Given the description of an element on the screen output the (x, y) to click on. 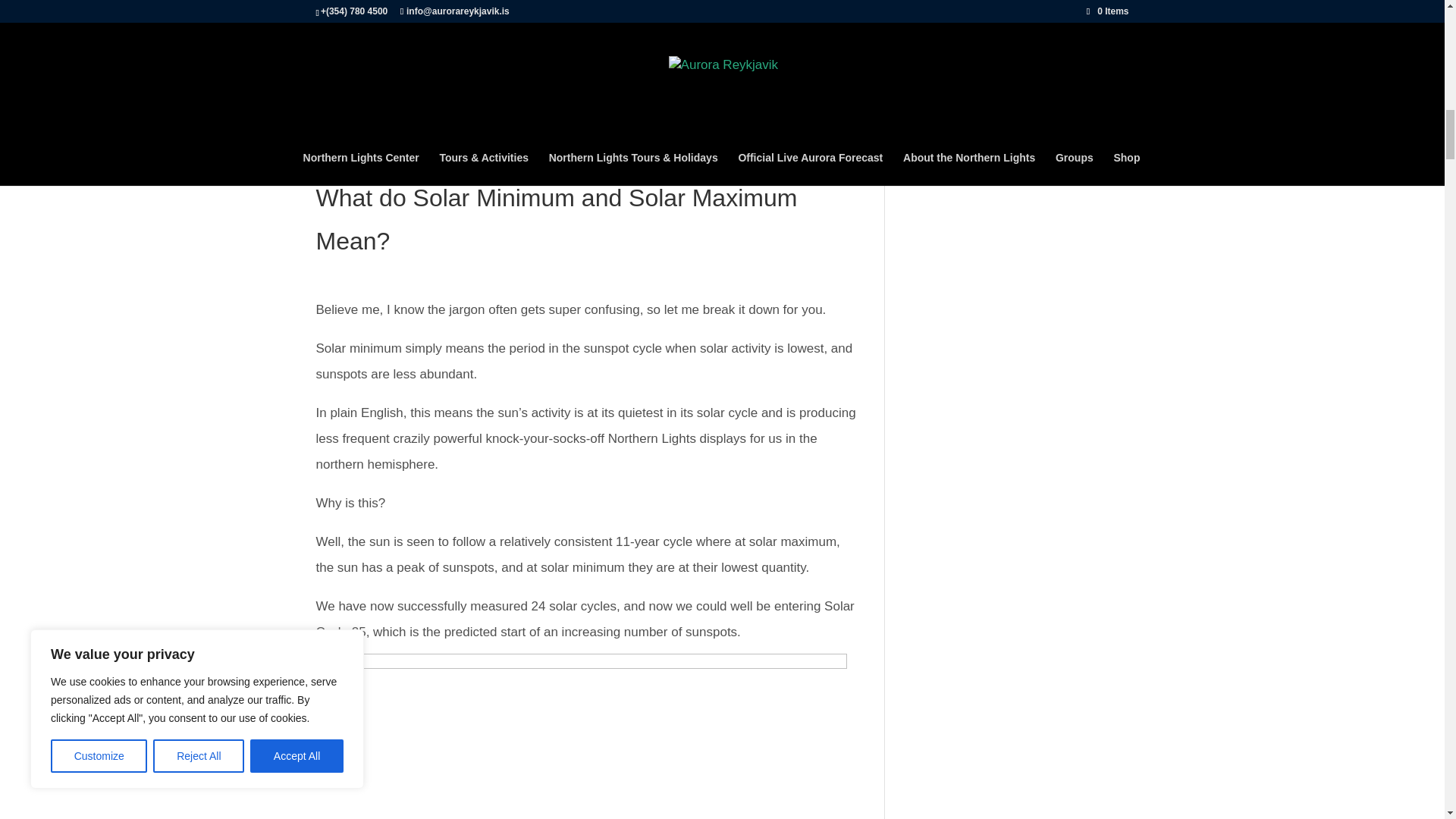
What Does the Data from the Past Show us? (457, 7)
When Should You Come to Iceland to See the Northern Lights? (509, 81)
